Given the description of an element on the screen output the (x, y) to click on. 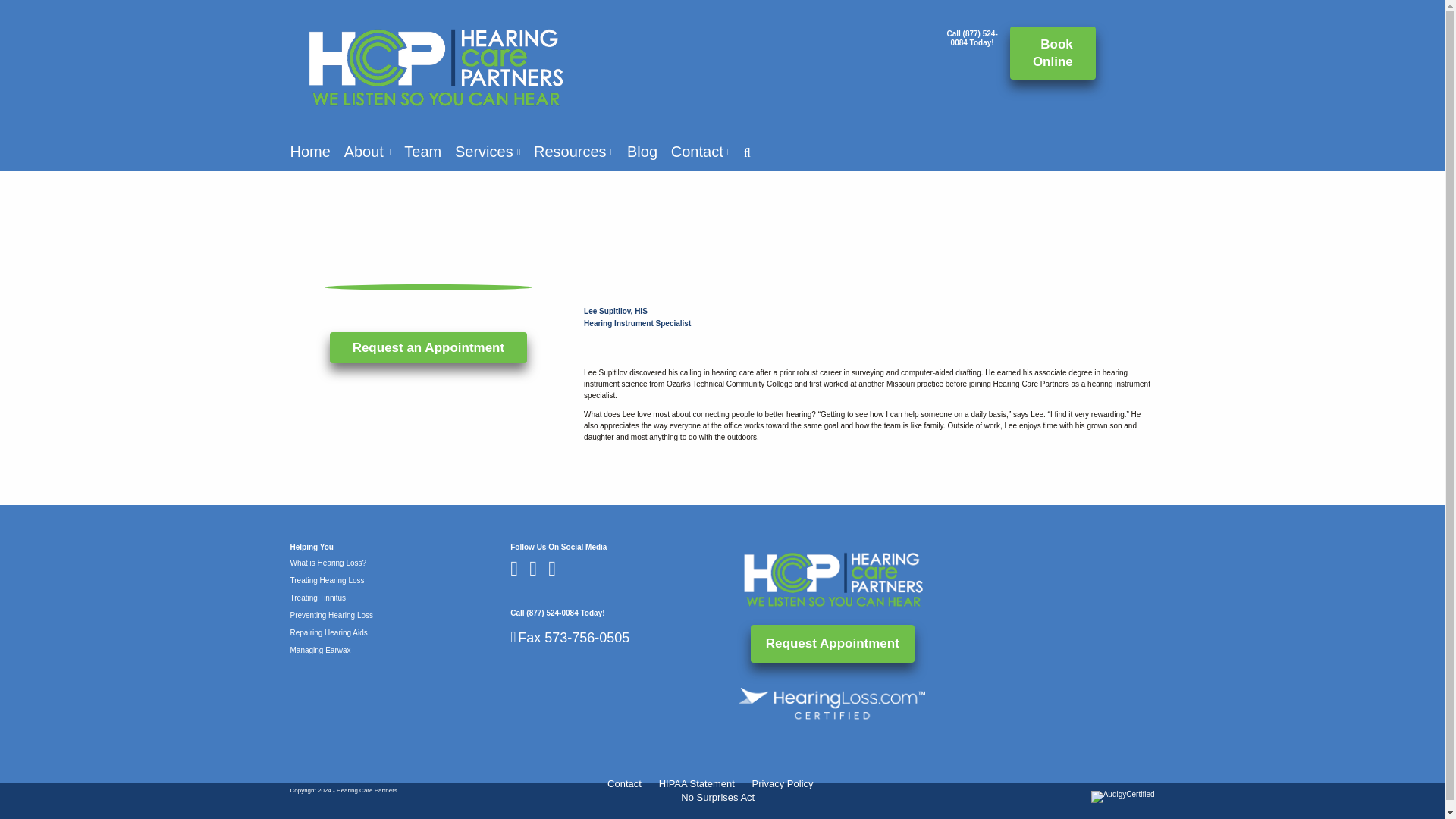
Book Online (1053, 52)
Team (422, 151)
Services (486, 151)
About (367, 151)
Resources (573, 151)
Home (309, 151)
Blog (642, 151)
